Given the description of an element on the screen output the (x, y) to click on. 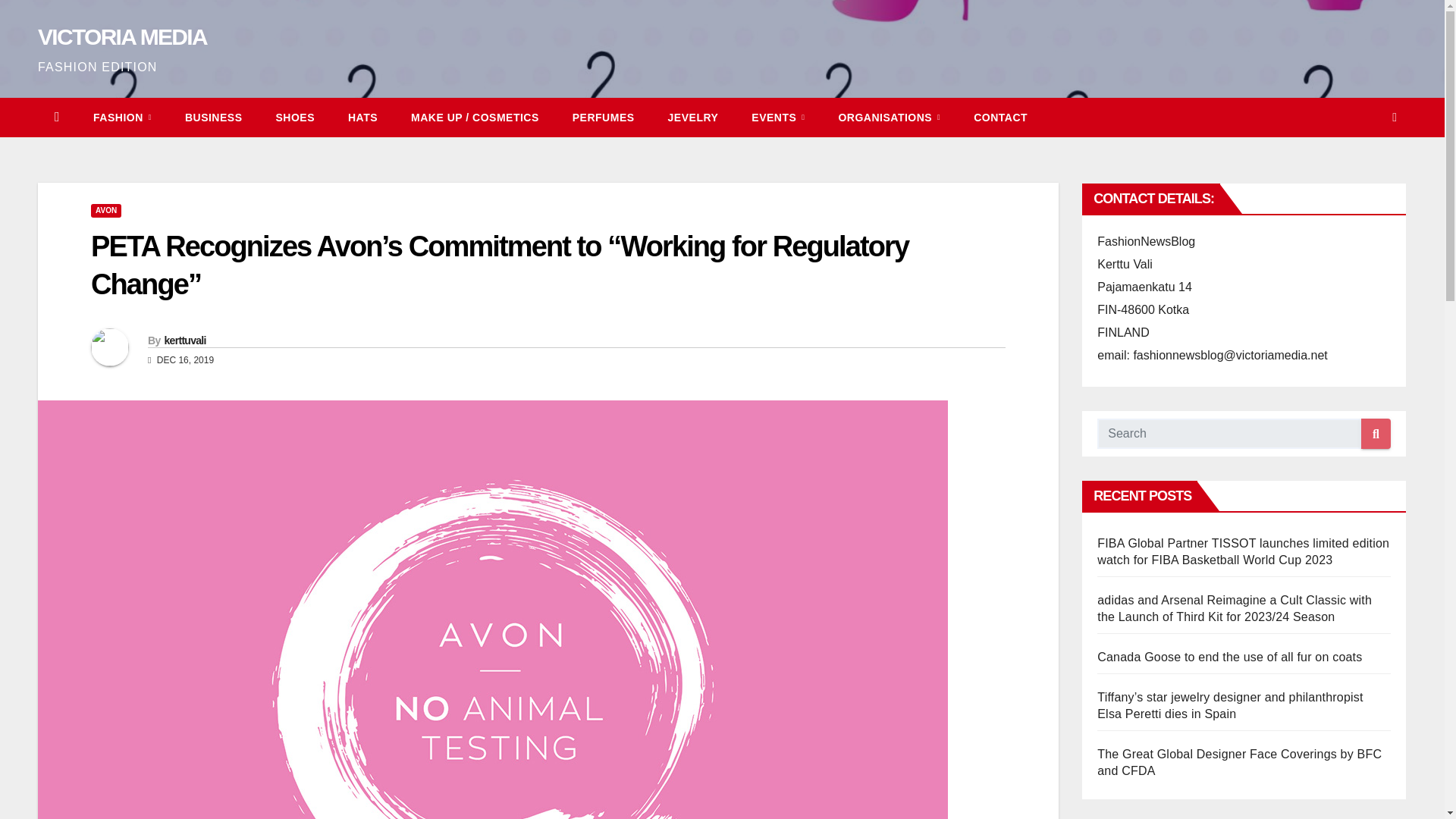
EVENTS (778, 117)
kerttuvali (184, 340)
Business (213, 117)
Canada Goose to end the use of all fur on coats (1229, 656)
Perfumes (603, 117)
Organisations (888, 117)
Events (778, 117)
SHOES (295, 117)
JEVELRY (692, 117)
Hats (362, 117)
